Given the description of an element on the screen output the (x, y) to click on. 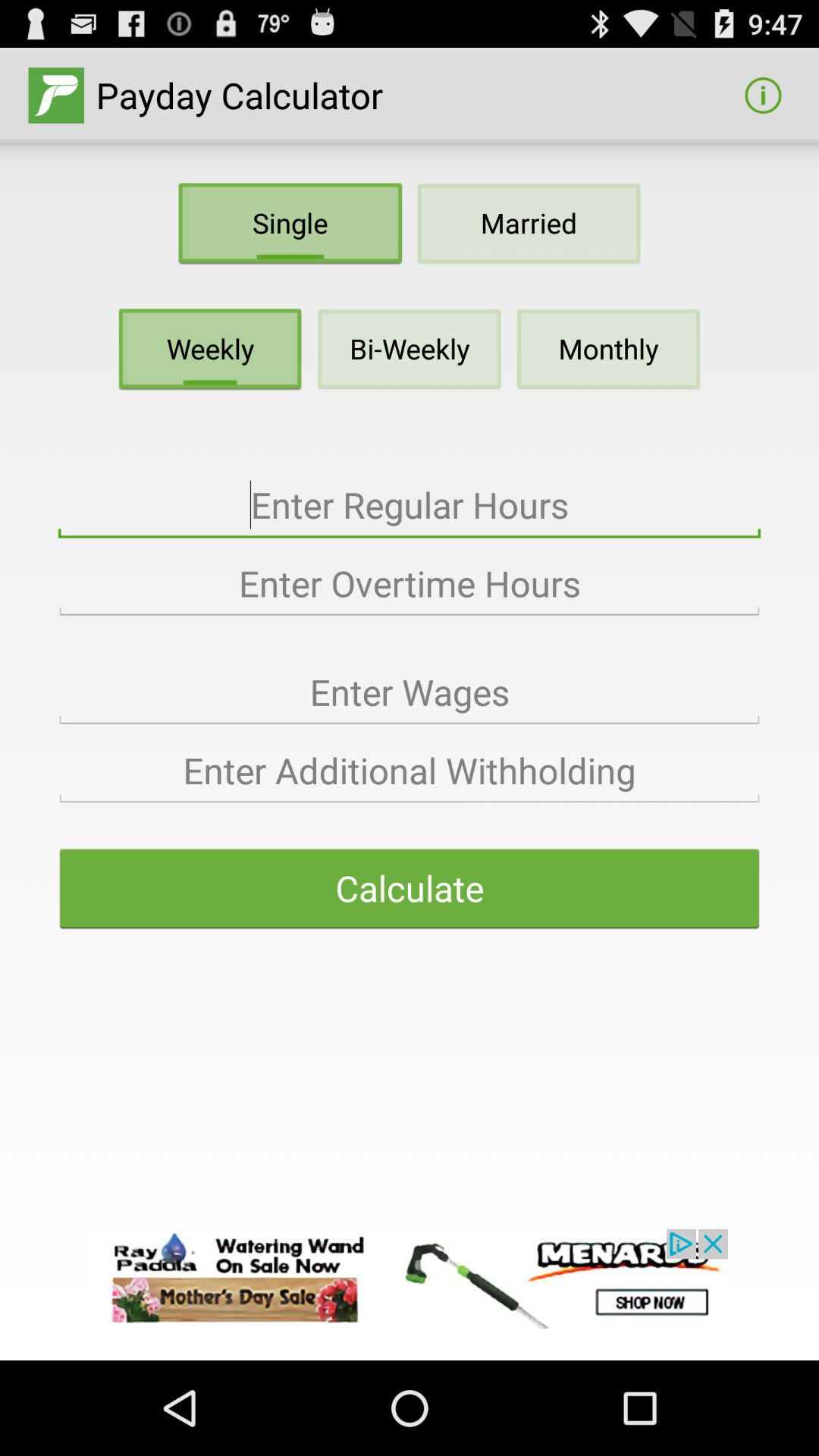
for additonal time (409, 770)
